Given the description of an element on the screen output the (x, y) to click on. 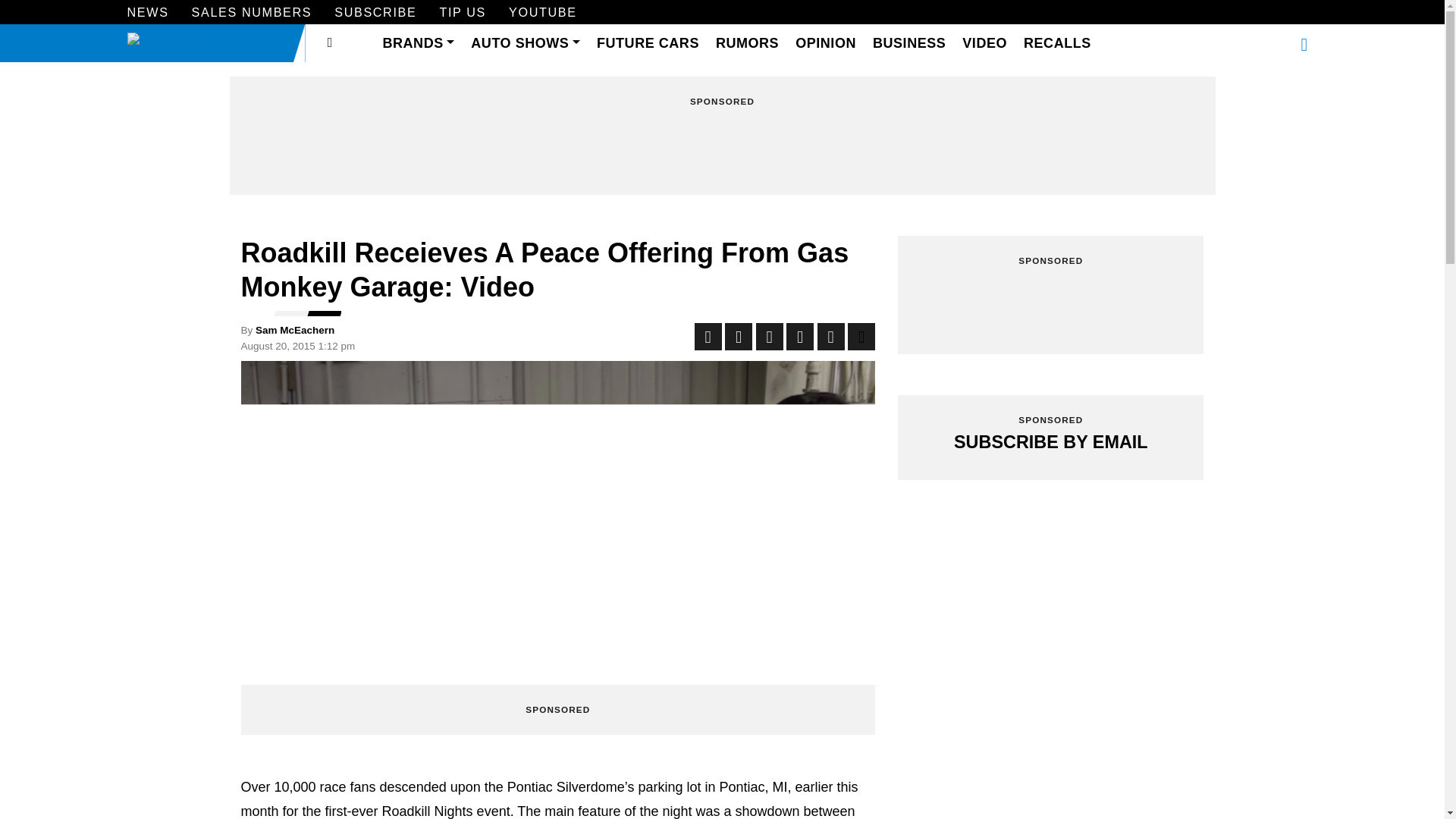
SUBSCRIBE (375, 13)
YOUTUBE (542, 13)
Share by Email (830, 336)
NEWS (148, 13)
TIP US (462, 13)
BRANDS (418, 43)
Share on Facebook (708, 336)
SALES NUMBERS (252, 13)
Print this article (861, 336)
Share on Pinterest (799, 336)
Share on Twitter (738, 336)
Share on LinkedIn (769, 336)
